Given the description of an element on the screen output the (x, y) to click on. 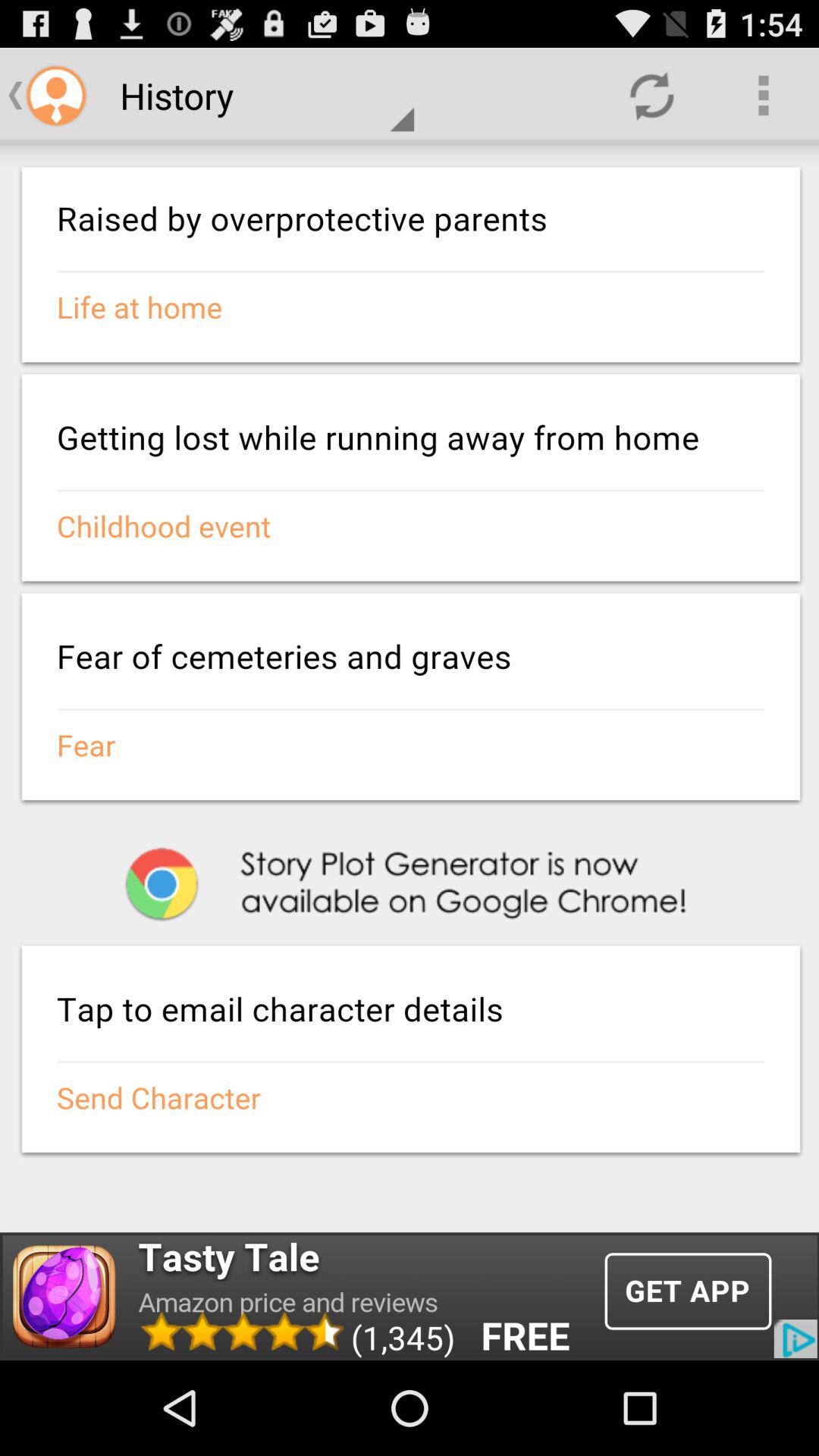
screen page (409, 687)
